Given the description of an element on the screen output the (x, y) to click on. 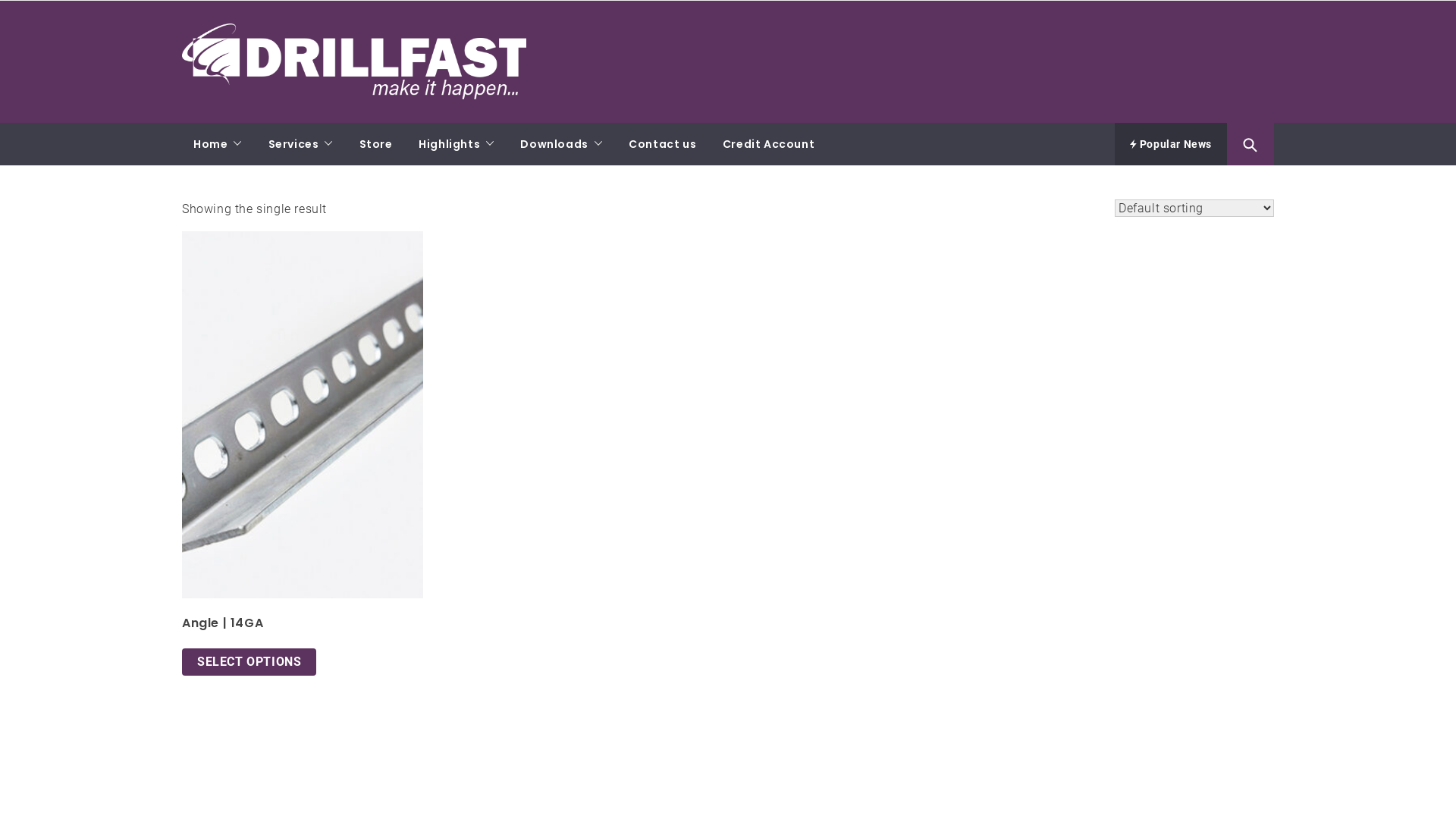
Downloads Element type: text (560, 143)
Angle | 14GA Element type: text (302, 454)
Highlights Element type: text (456, 143)
Services Element type: text (300, 143)
DRILLFAST Element type: text (239, 32)
Popular News Element type: text (1170, 143)
Home Element type: text (217, 143)
Contact us Element type: text (662, 143)
Store Element type: text (376, 143)
SELECT OPTIONS Element type: text (249, 661)
Credit Account Element type: text (768, 143)
